Given the description of an element on the screen output the (x, y) to click on. 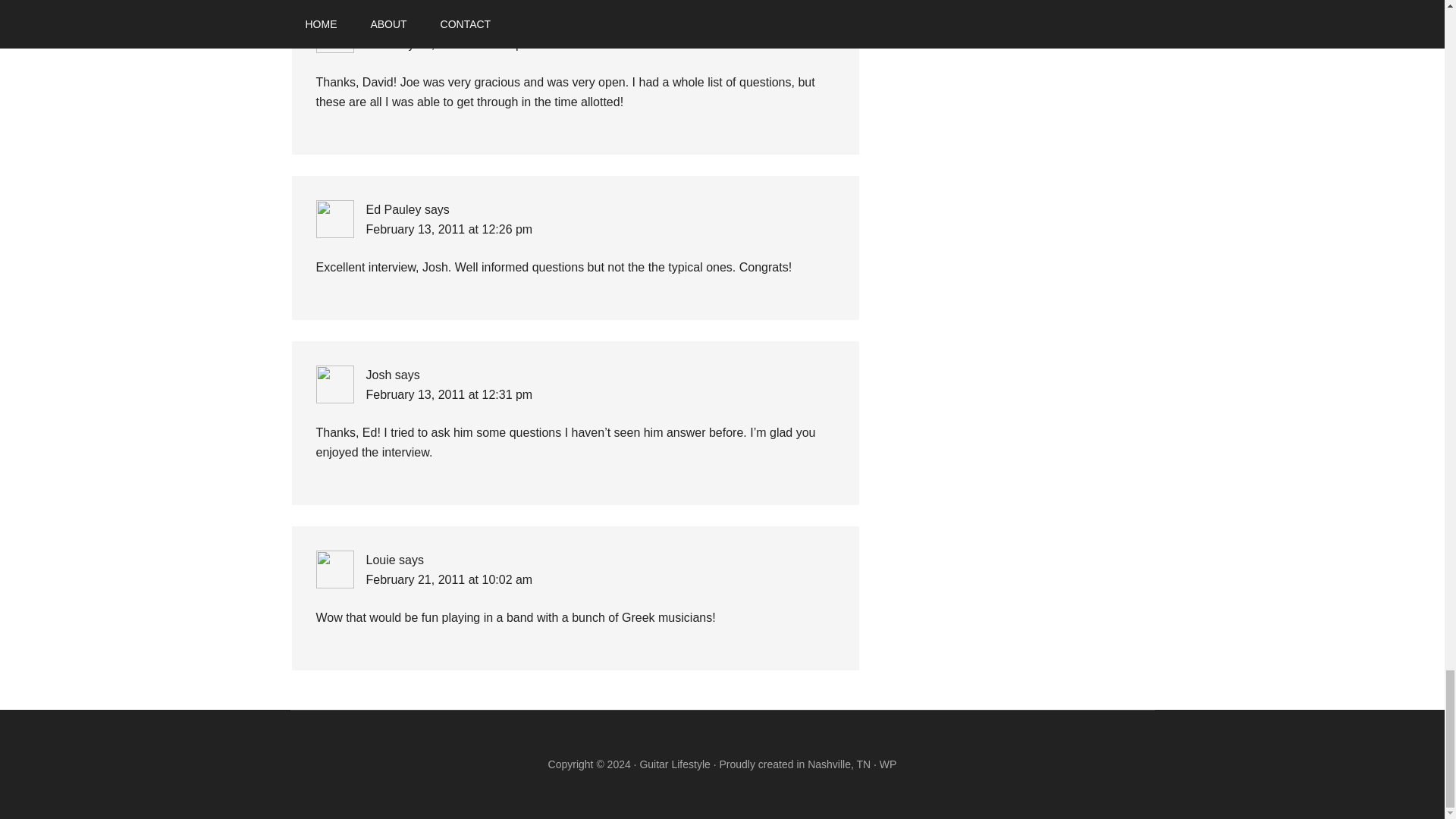
Guitar Lifestyle (674, 764)
February 11, 2011 at 11:13 pm (448, 43)
February 21, 2011 at 10:02 am (448, 579)
February 13, 2011 at 12:26 pm (448, 228)
WP (887, 764)
February 13, 2011 at 12:31 pm (448, 394)
Louie (379, 559)
